Given the description of an element on the screen output the (x, y) to click on. 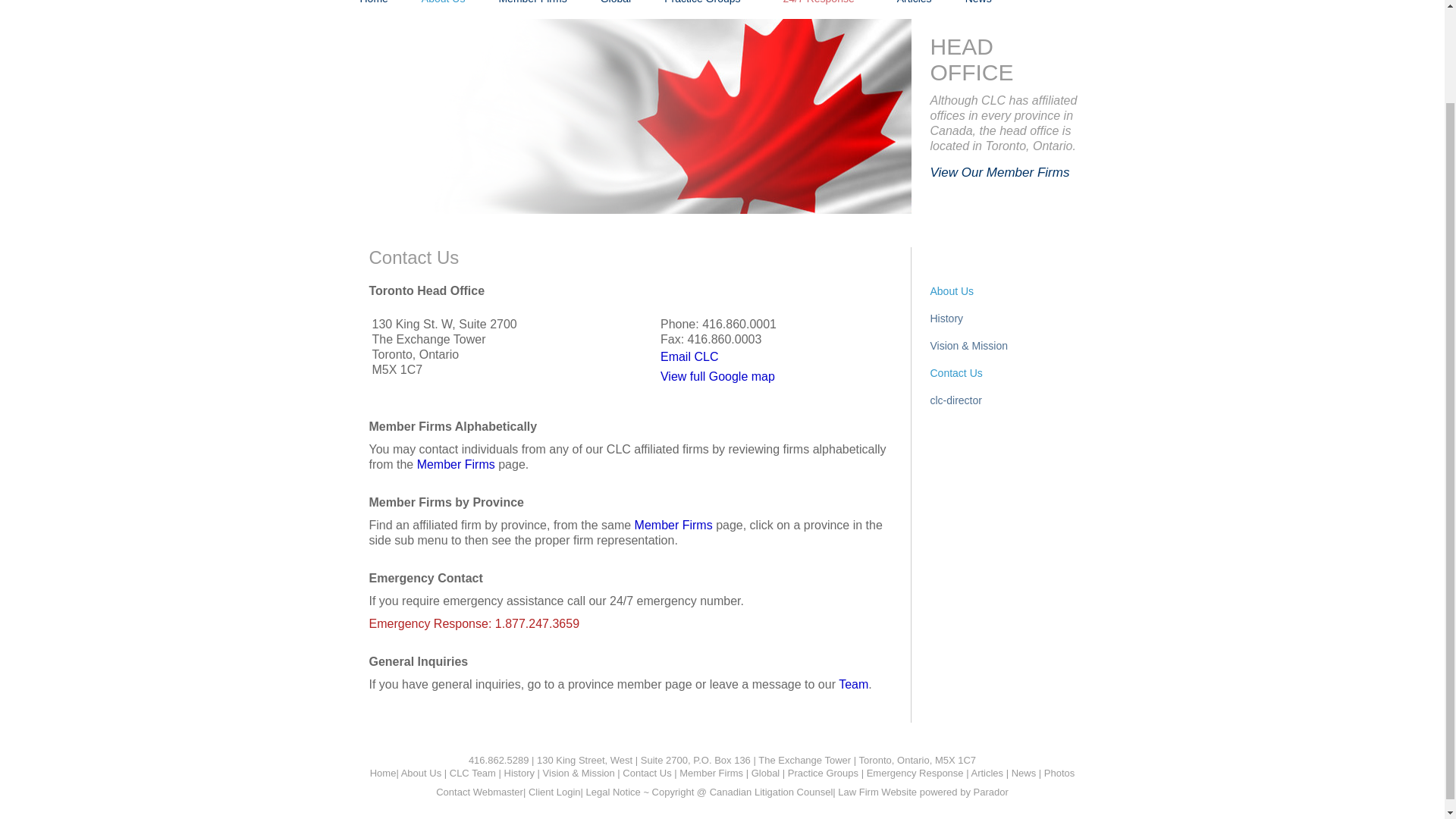
Home (373, 4)
Articles (914, 4)
View full Google map (717, 376)
Practice Groups (702, 4)
View Our Member Firms (999, 172)
News (978, 4)
Email CLC (689, 356)
Member Firms (531, 4)
Global (615, 4)
About Us (443, 4)
